Given the description of an element on the screen output the (x, y) to click on. 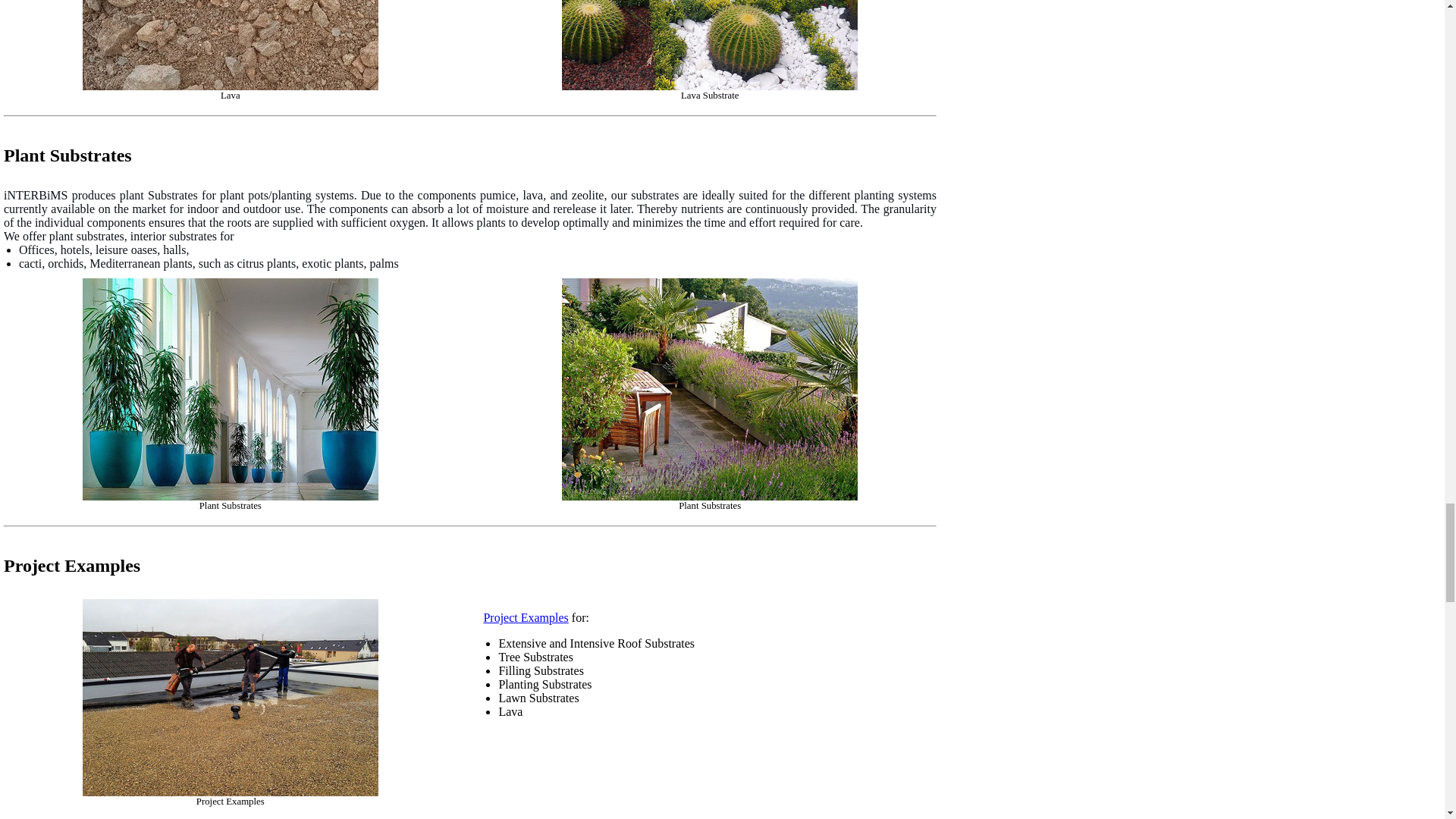
PROJECT EXAMPLES (525, 617)
